Given the description of an element on the screen output the (x, y) to click on. 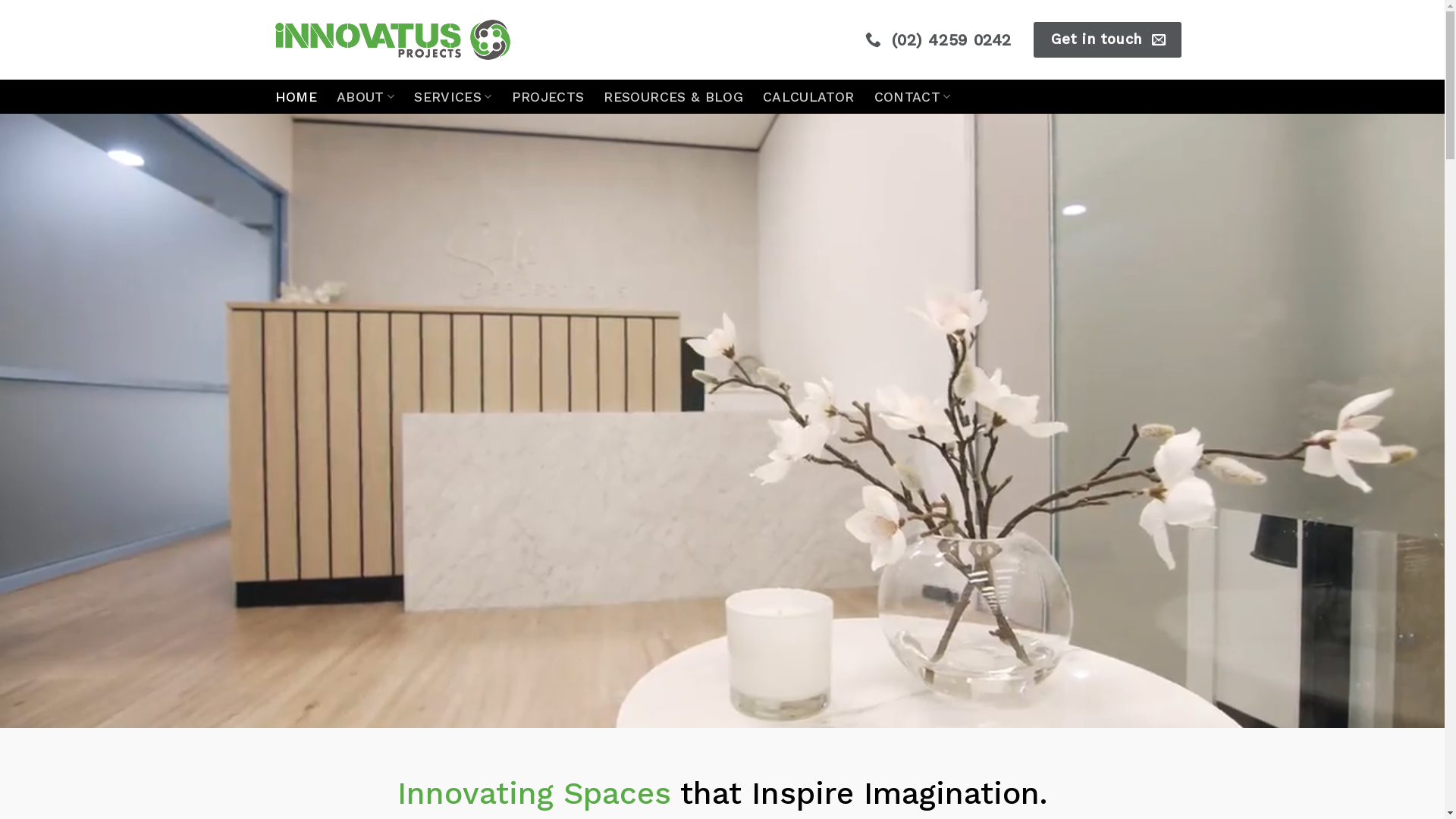
PROJECTS Element type: text (547, 96)
Get in touch Element type: text (1107, 38)
SERVICES Element type: text (452, 96)
CALCULATOR Element type: text (808, 96)
Innovatus Projects - Just another WordPress site Element type: hover (391, 39)
ABOUT Element type: text (365, 96)
CONTACT Element type: text (912, 96)
HOME Element type: text (295, 96)
(02) 4259 0242 Element type: text (939, 39)
RESOURCES & BLOG Element type: text (673, 96)
